Given the description of an element on the screen output the (x, y) to click on. 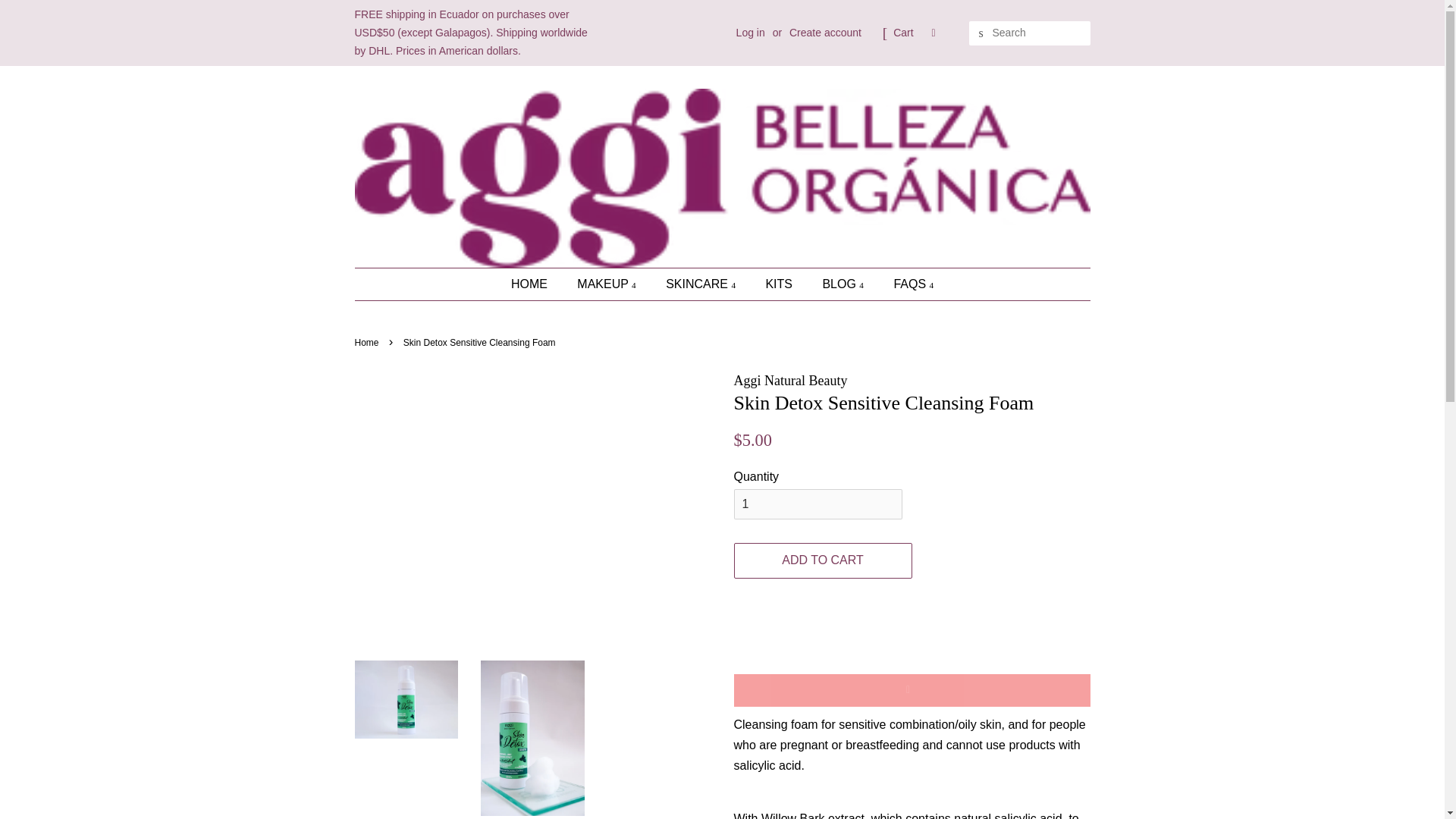
SEARCH (980, 33)
1 (817, 504)
Create account (825, 32)
Back to the frontpage (368, 342)
Cart (902, 33)
Log in (750, 32)
